Given the description of an element on the screen output the (x, y) to click on. 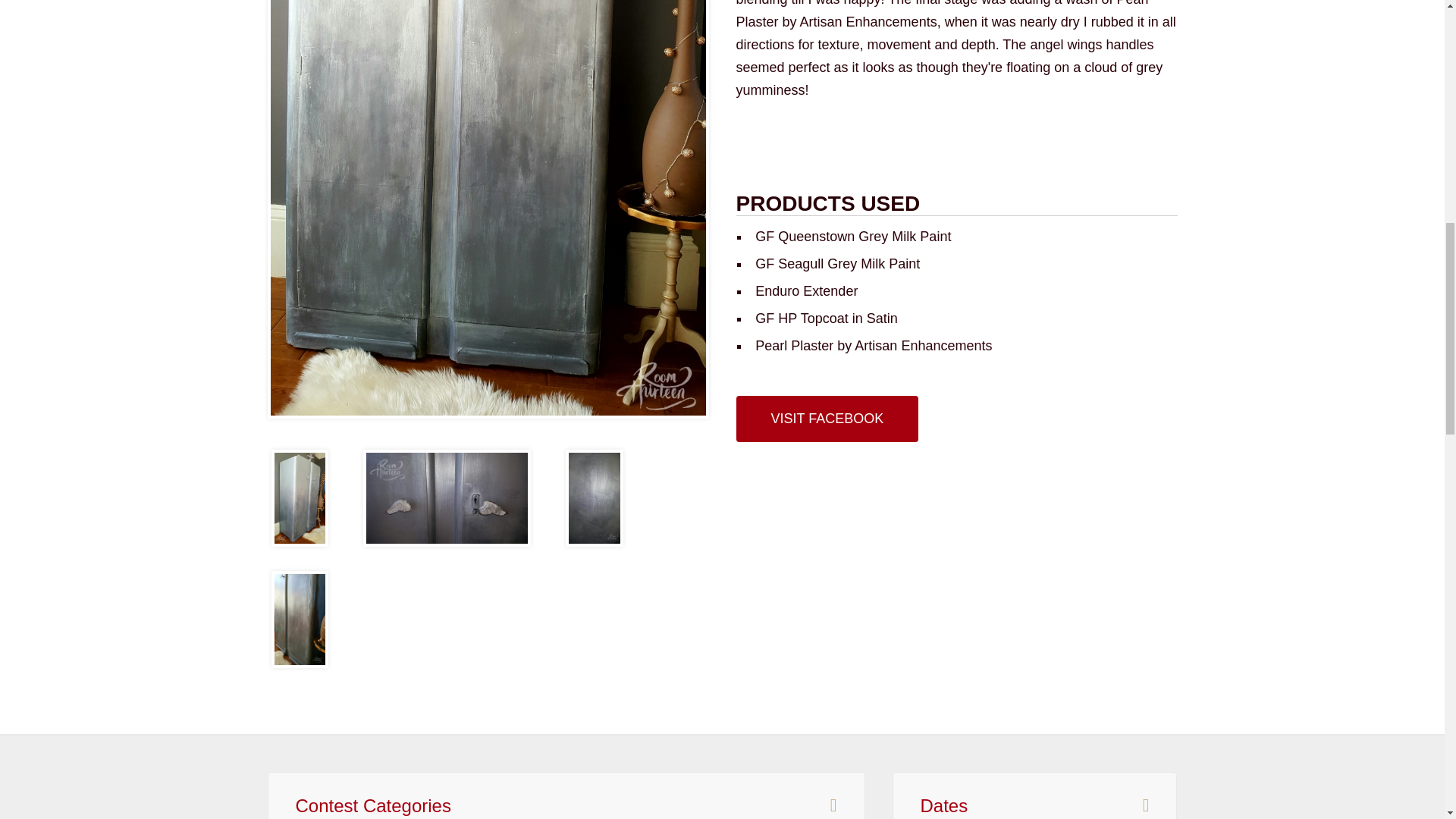
VISIT FACEBOOK (826, 418)
Contest Categories (373, 805)
Dates (944, 805)
